Given the description of an element on the screen output the (x, y) to click on. 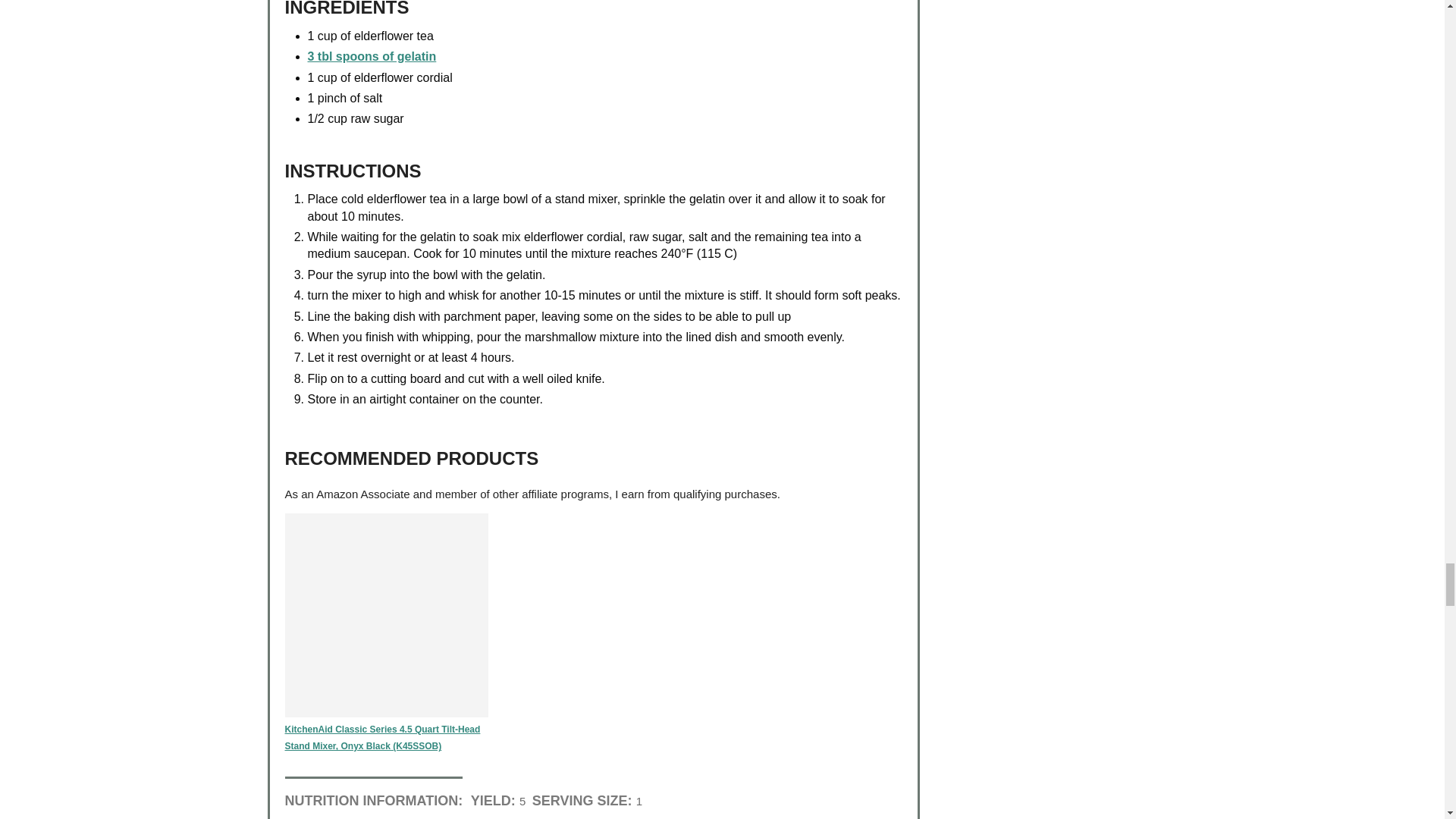
3 tbl spoons of gelatin (371, 56)
